Given the description of an element on the screen output the (x, y) to click on. 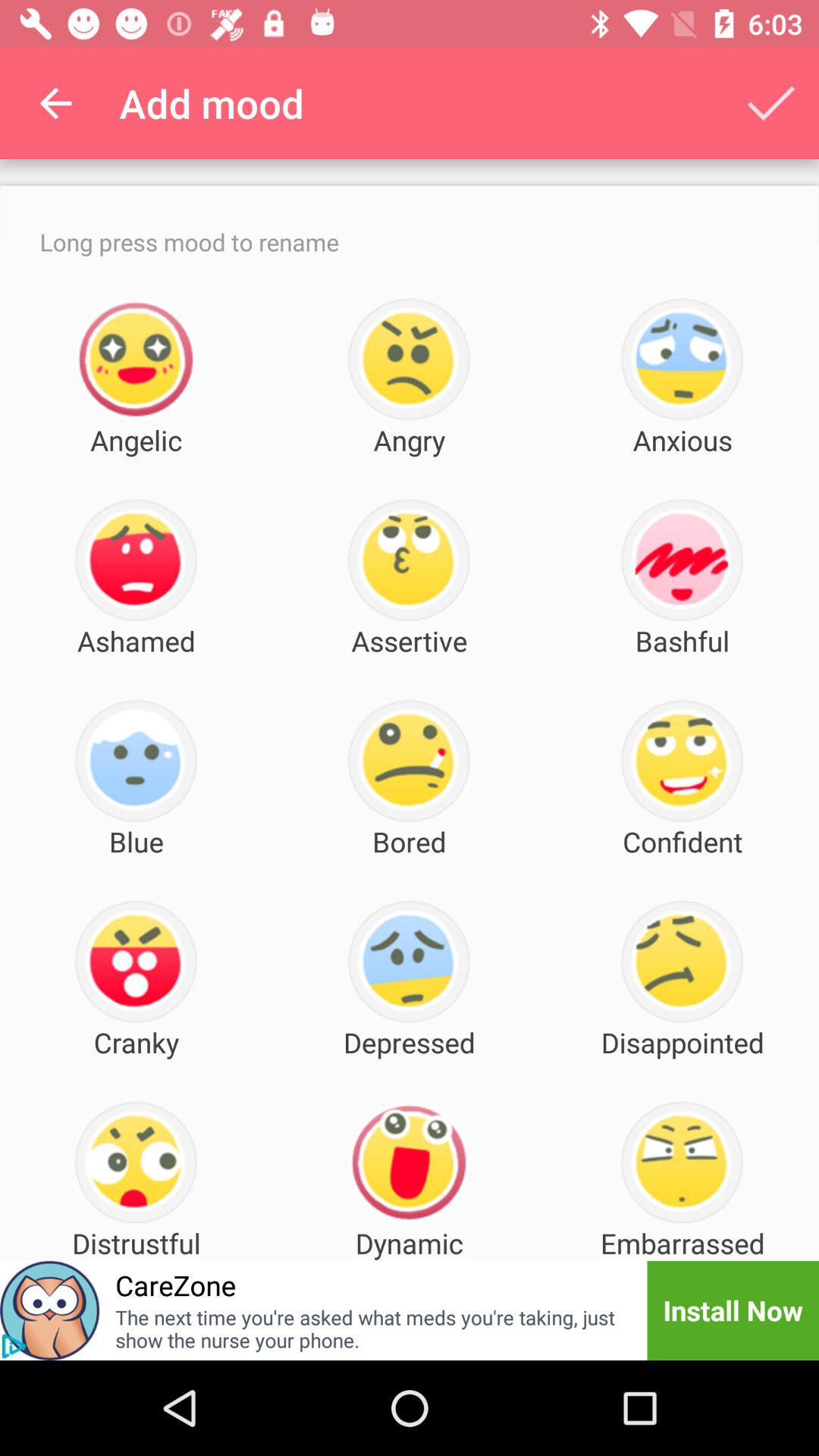
launch the icon above the long press mood icon (55, 103)
